Given the description of an element on the screen output the (x, y) to click on. 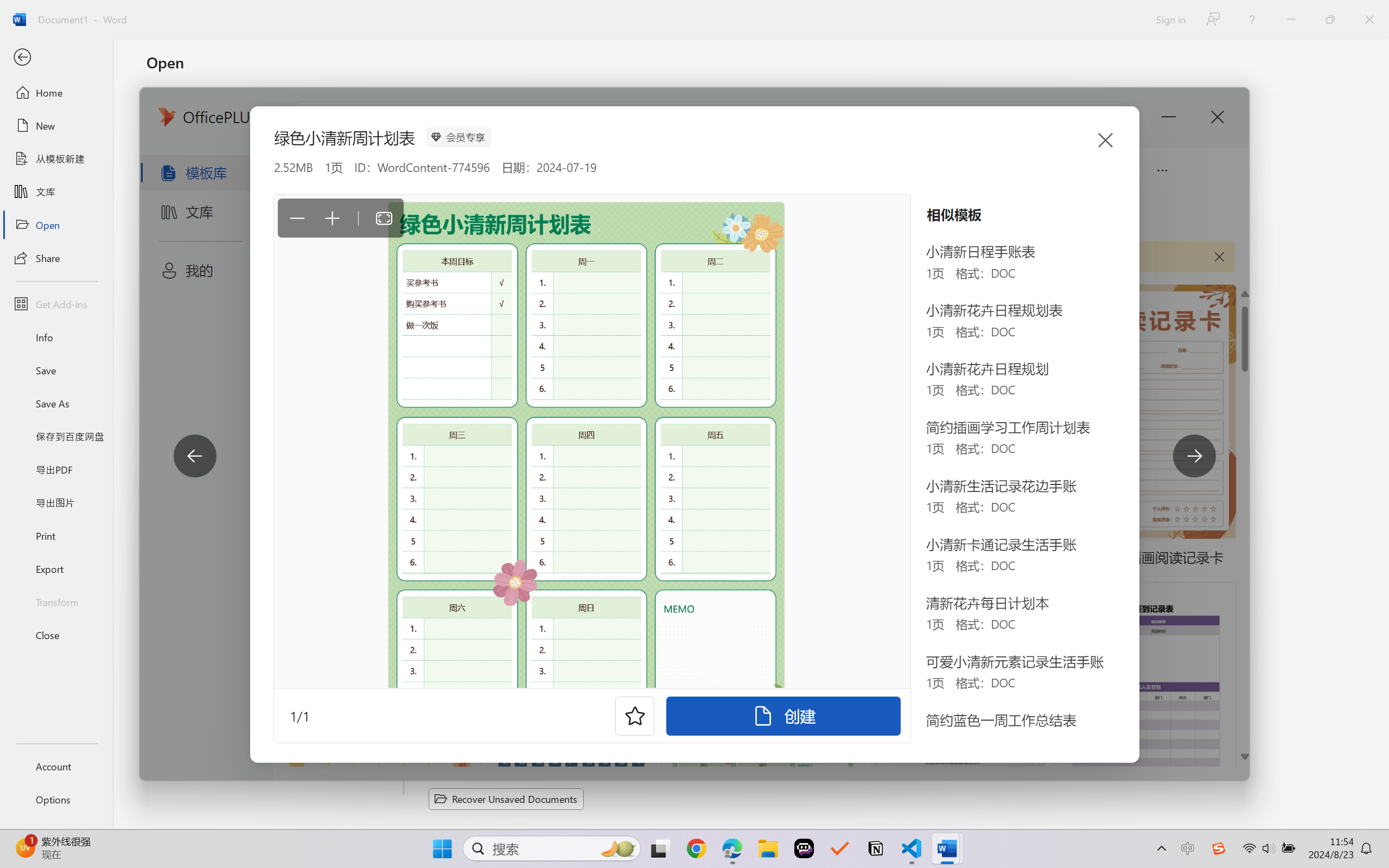
Recover Unsaved Documents (506, 798)
Account (56, 765)
Back (56, 57)
Info (56, 337)
